Given the description of an element on the screen output the (x, y) to click on. 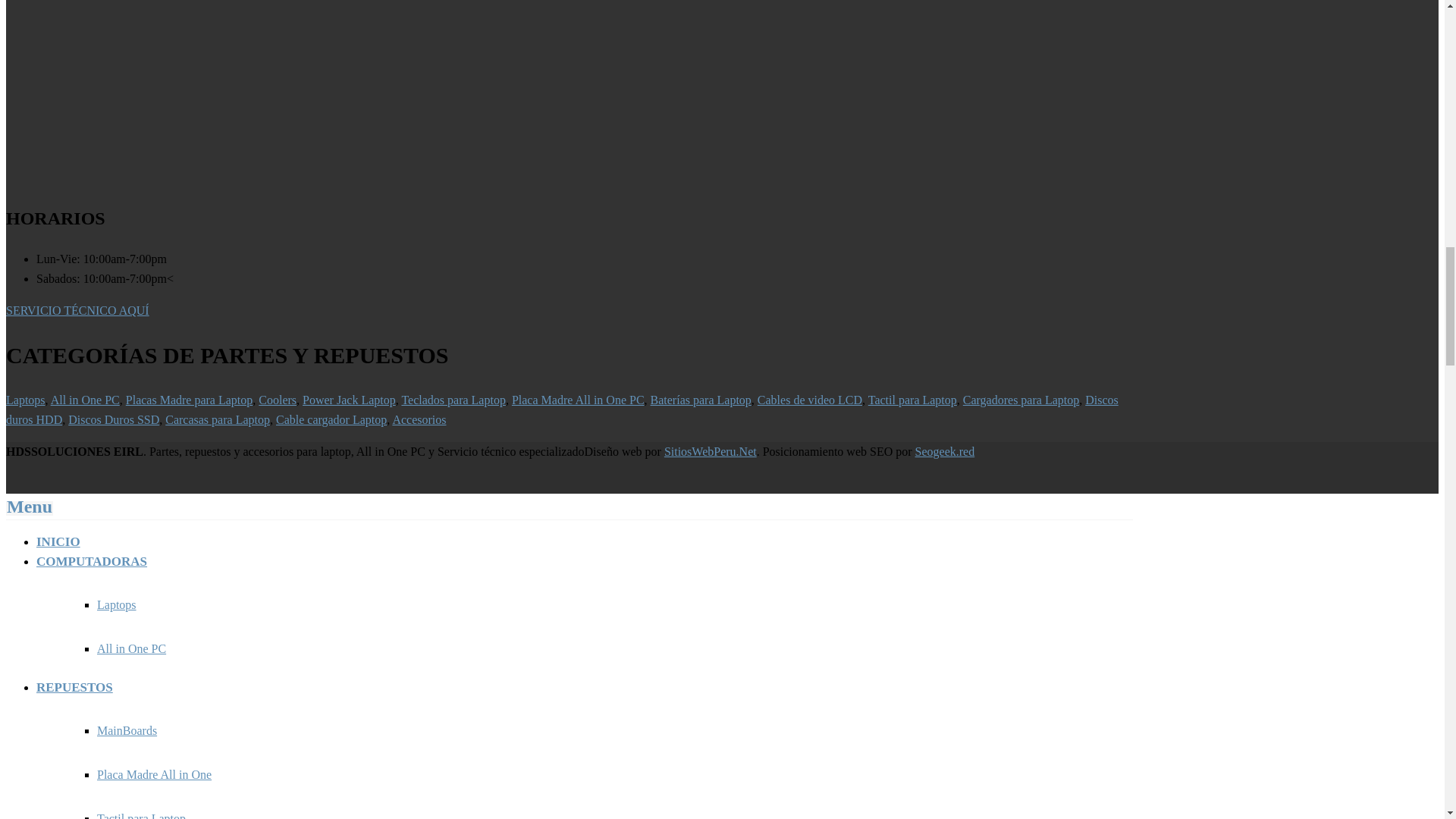
Placas Madre para Laptop (188, 399)
Cables de video LCD (809, 399)
Placa Madre All in One PC (578, 399)
All in One PC (84, 399)
Power Jack Laptop (349, 399)
Laptops (25, 399)
Coolers (278, 399)
Teclados para Laptop (453, 399)
